Given the description of an element on the screen output the (x, y) to click on. 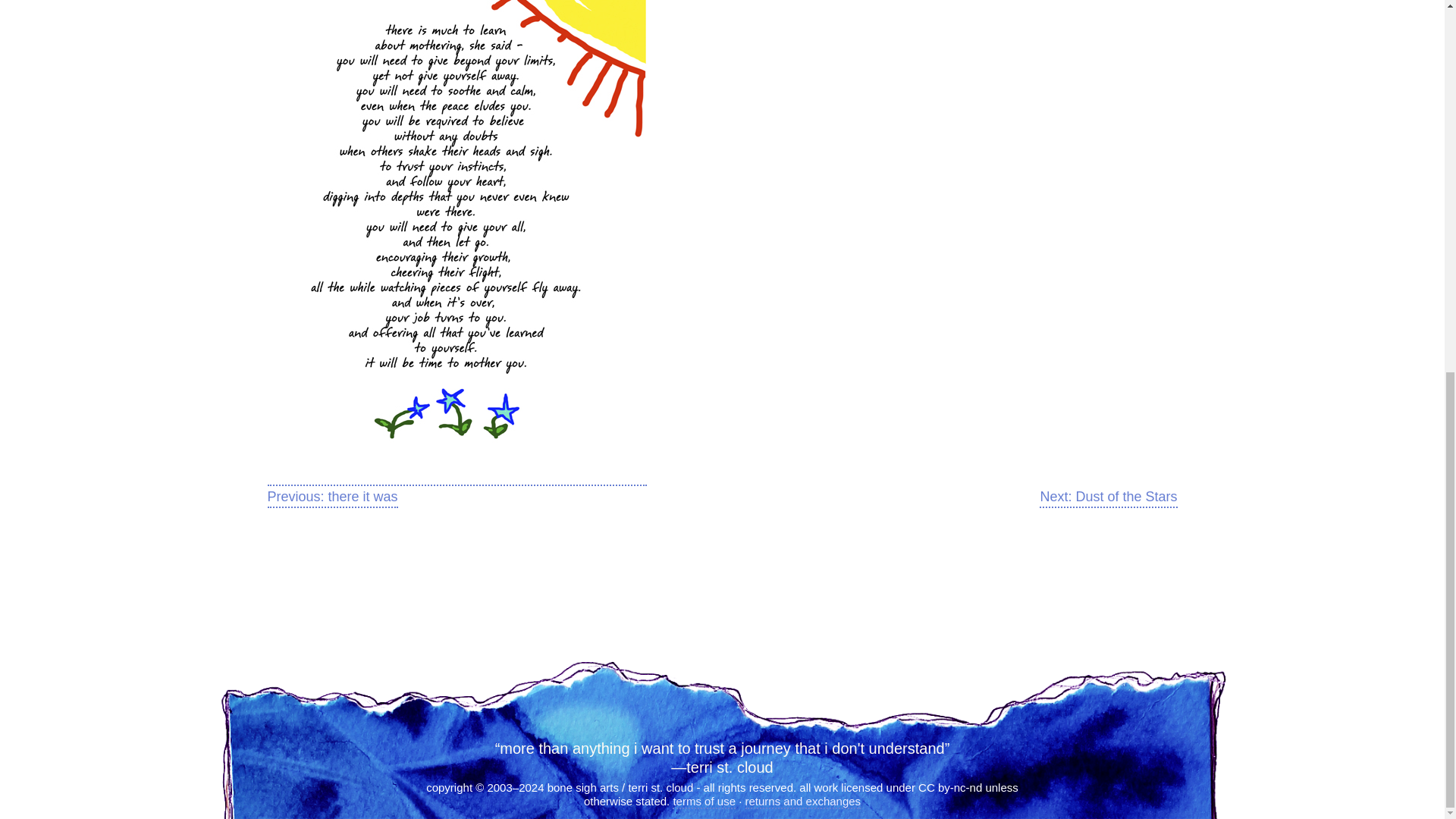
Next: Dust of the Stars (1107, 497)
returns and exchanges (802, 801)
Previous: there it was (331, 497)
terms of use (703, 801)
